Given the description of an element on the screen output the (x, y) to click on. 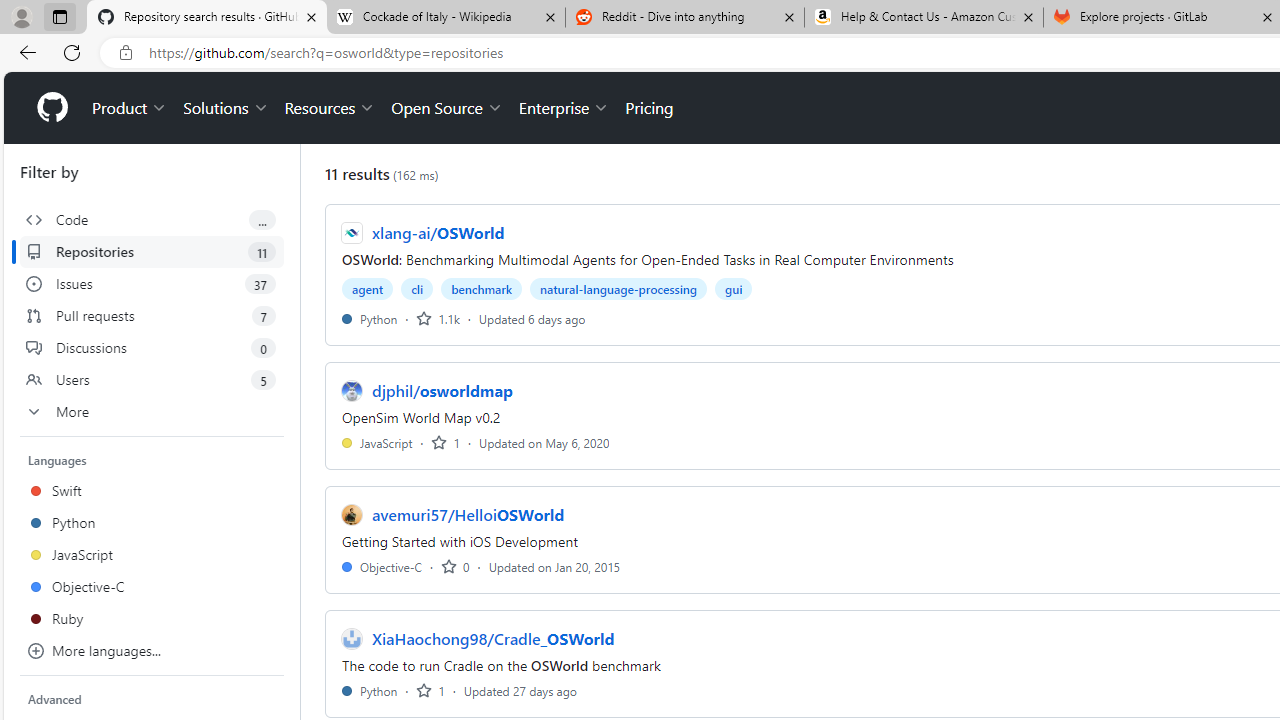
0 (455, 566)
Reddit - Dive into anything (684, 17)
Pricing (649, 107)
Homepage (51, 107)
natural-language-processing (618, 288)
Help & Contact Us - Amazon Customer Service (924, 17)
Python (369, 690)
Refresh (72, 52)
Updated 27 days ago (520, 690)
Updated on Jan 20, 2015 (553, 566)
cli (416, 288)
